Given the description of an element on the screen output the (x, y) to click on. 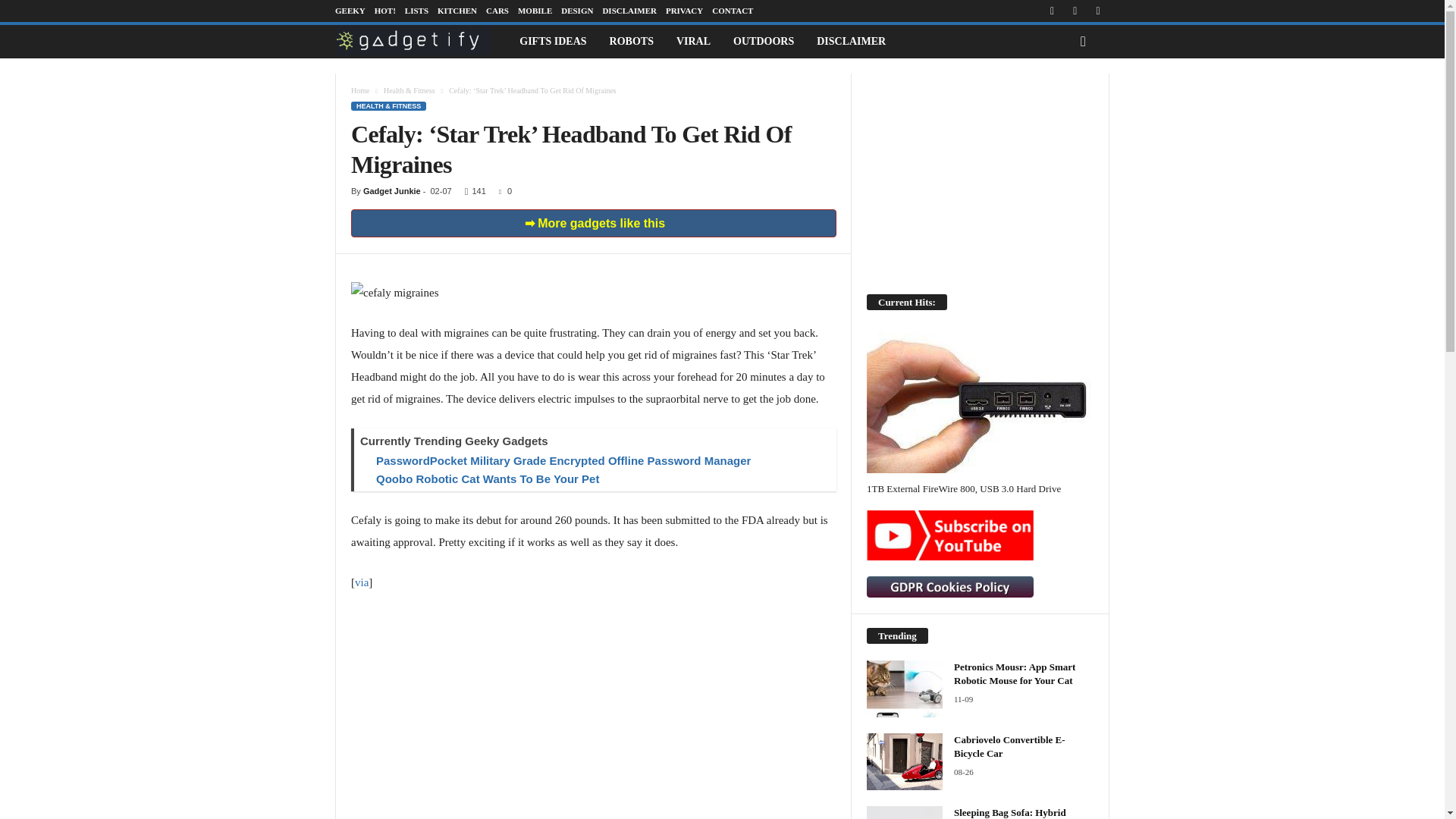
LISTS (416, 10)
HOT! (385, 10)
GEEKY (349, 10)
